Given the description of an element on the screen output the (x, y) to click on. 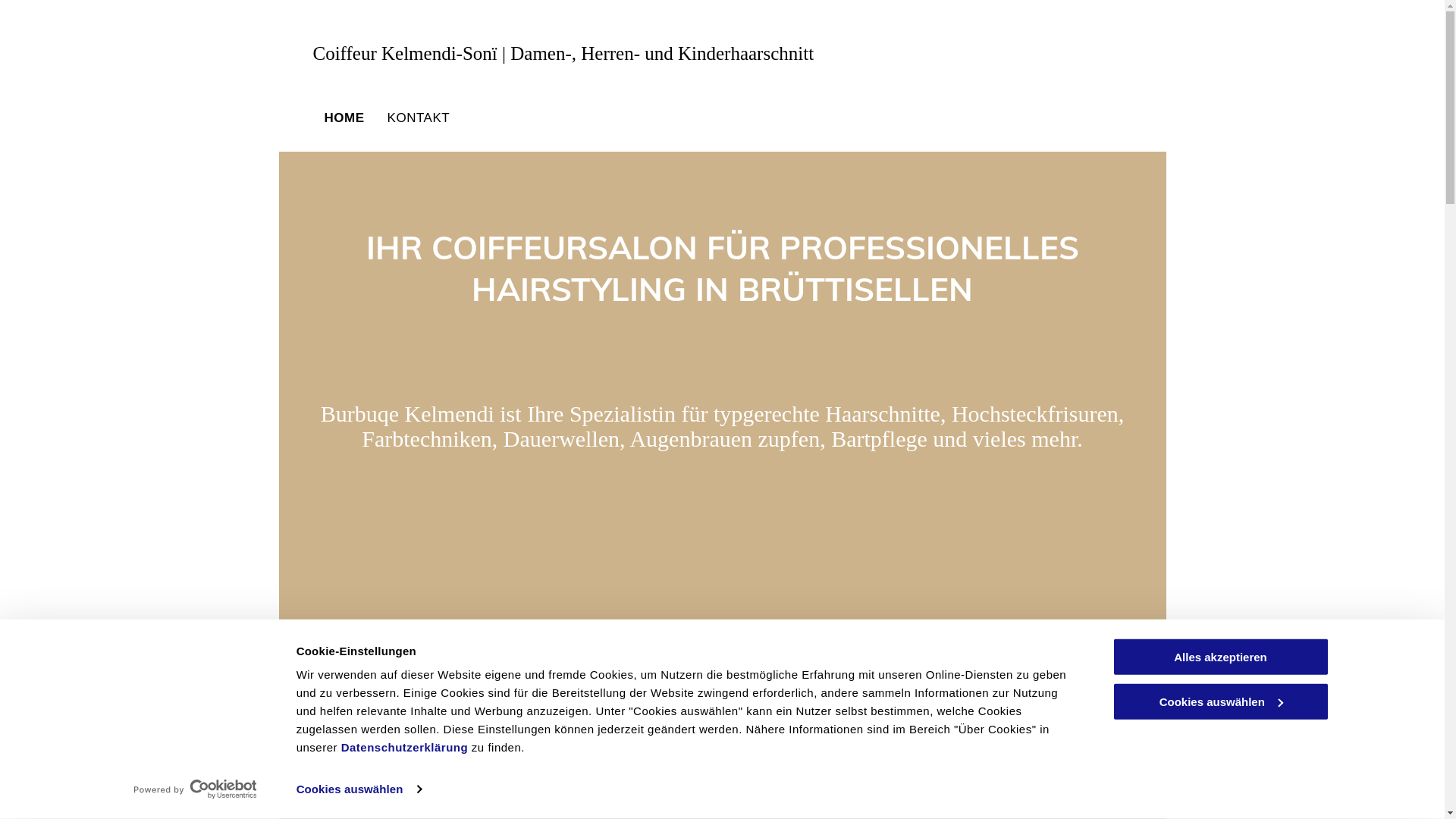
HOME Element type: text (343, 117)
Alles akzeptieren Element type: text (1219, 656)
KONTAKT Element type: text (418, 117)
